Given the description of an element on the screen output the (x, y) to click on. 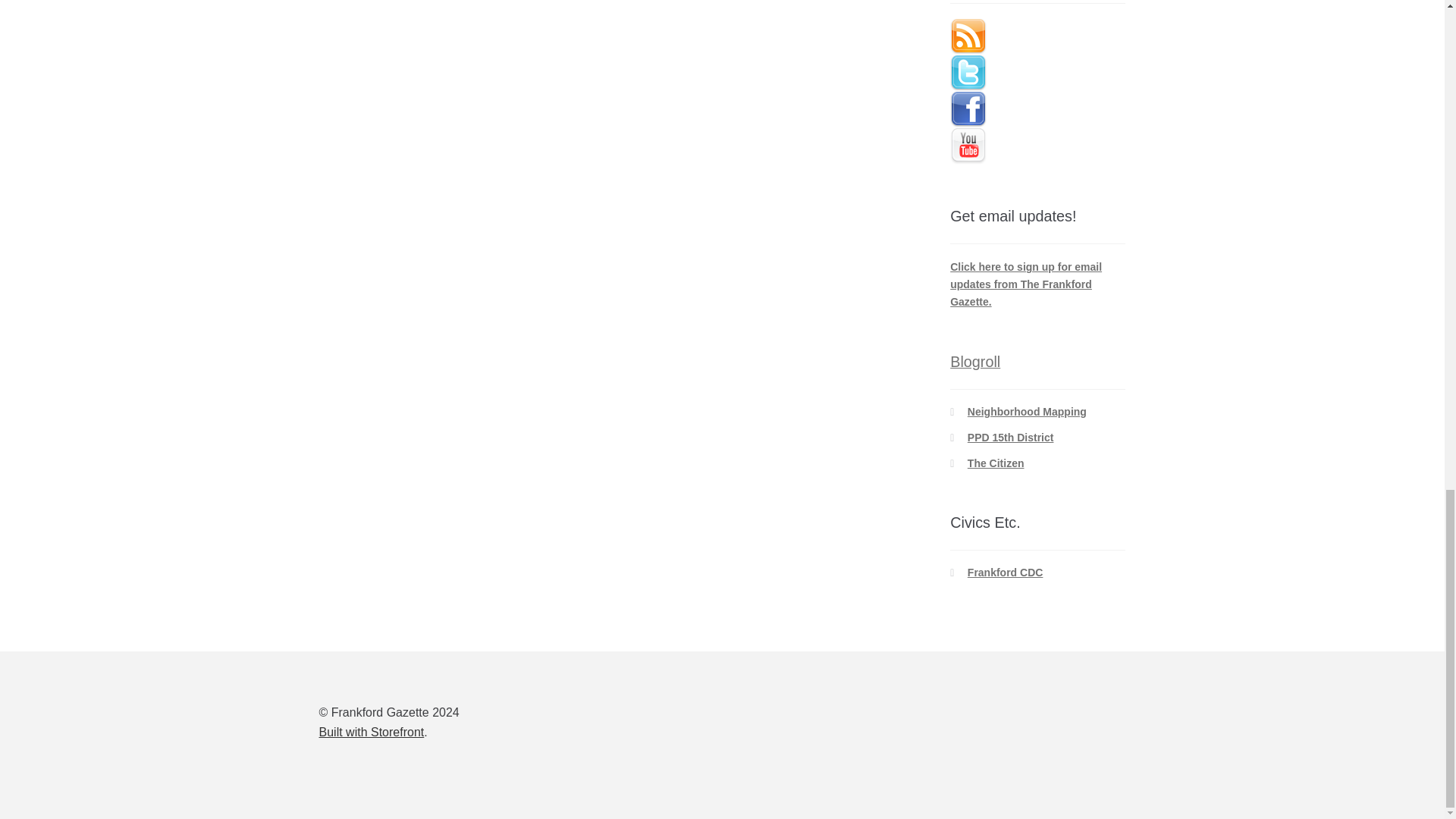
Frankford Community Development Corporation (1005, 572)
What neighborhood am I in? (1027, 411)
Philadelphia Police 15th district list of community meetings (1011, 437)
